Given the description of an element on the screen output the (x, y) to click on. 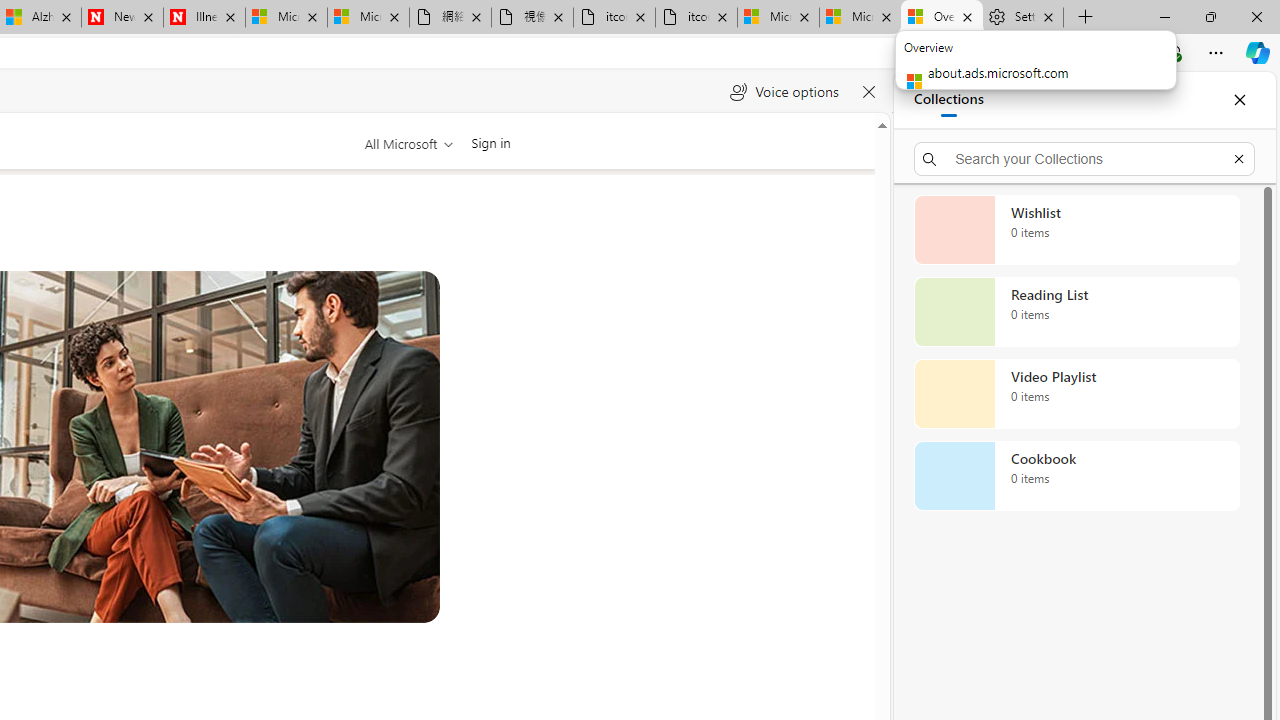
itconcepthk.com/projector_solutions.mp4 (696, 17)
Illness news & latest pictures from Newsweek.com (203, 17)
Sign in (490, 142)
Wishlist collection, 0 items (1076, 229)
Exit search (1238, 158)
Voice options (783, 92)
